Given the description of an element on the screen output the (x, y) to click on. 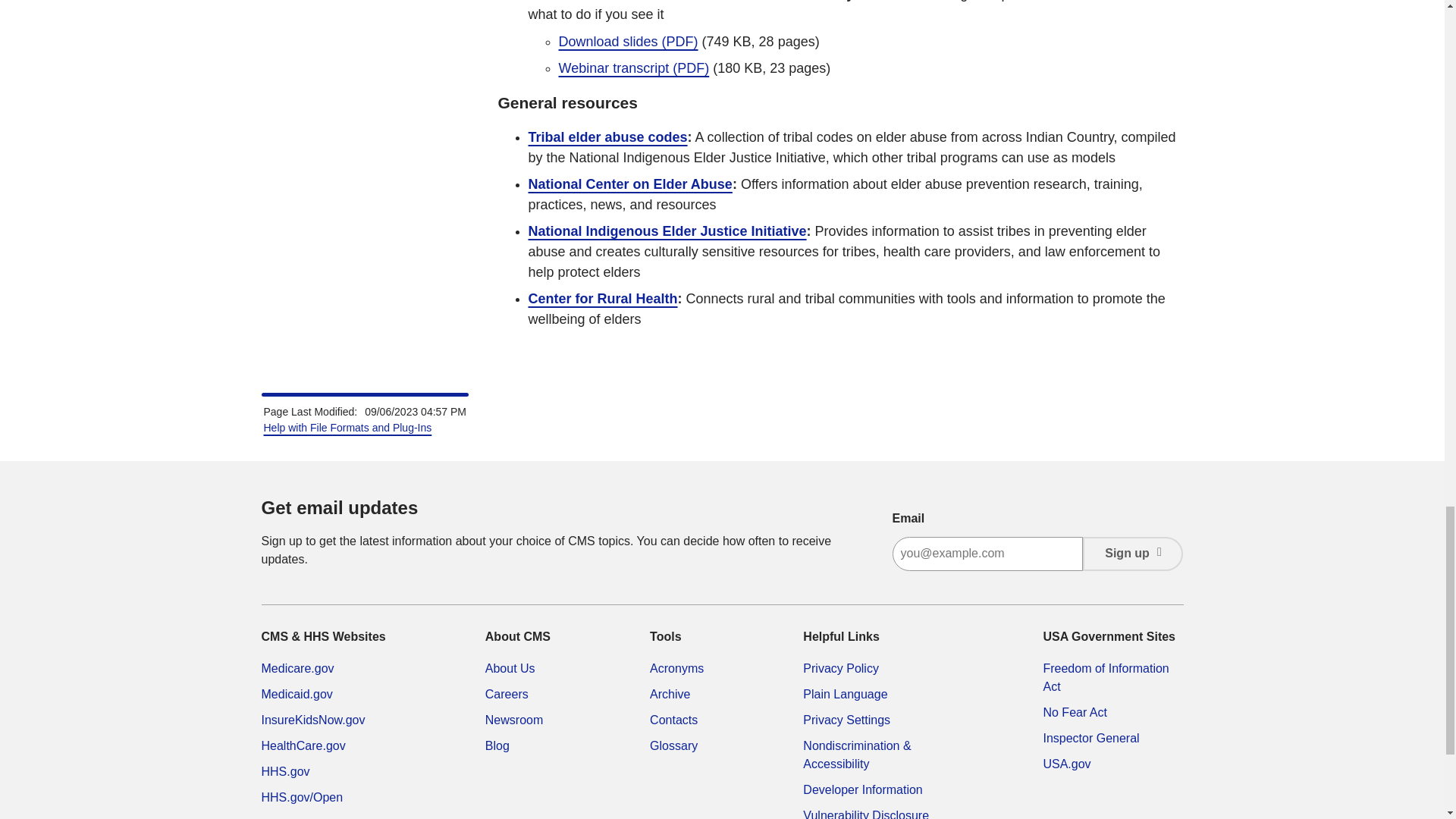
LTSS-Elder-Abuse-Webinar.pdf (627, 41)
About CMS (509, 667)
HealthCare.gov (302, 745)
InsureKidsNow.gov (312, 719)
Medicare.gov (296, 667)
HHS.gov (284, 771)
Medicaid.gov (295, 694)
Help with File Formats and Plug-Ins (347, 427)
